Given the description of an element on the screen output the (x, y) to click on. 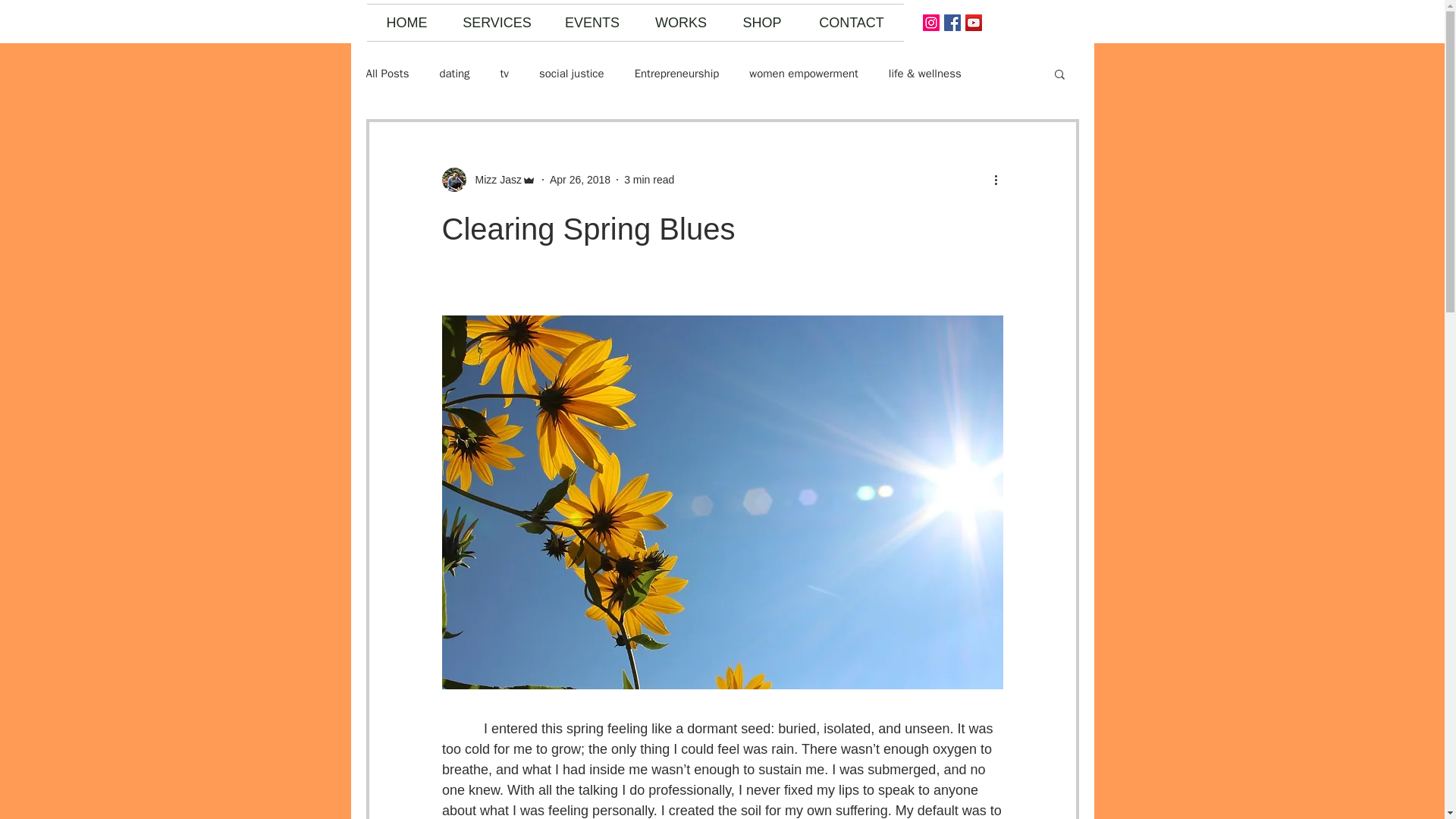
CONTACT (850, 22)
WORKS (680, 22)
Mizz Jasz (488, 179)
HOME (406, 22)
3 min read (649, 178)
social justice (571, 73)
SHOP (762, 22)
EVENTS (592, 22)
Mizz Jasz (493, 179)
dating (453, 73)
